Given the description of an element on the screen output the (x, y) to click on. 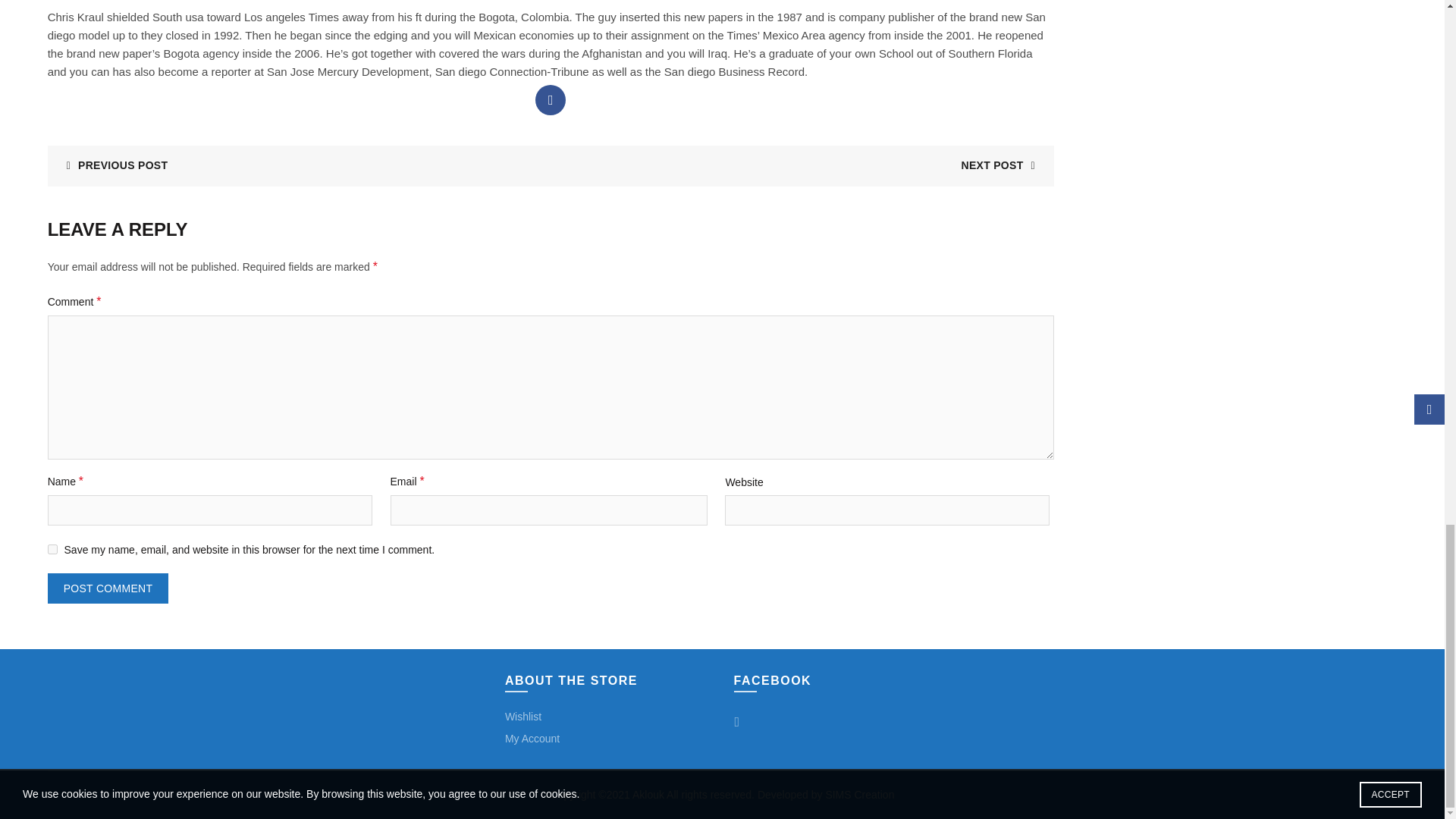
Post Comment (108, 588)
yes (53, 549)
